Given the description of an element on the screen output the (x, y) to click on. 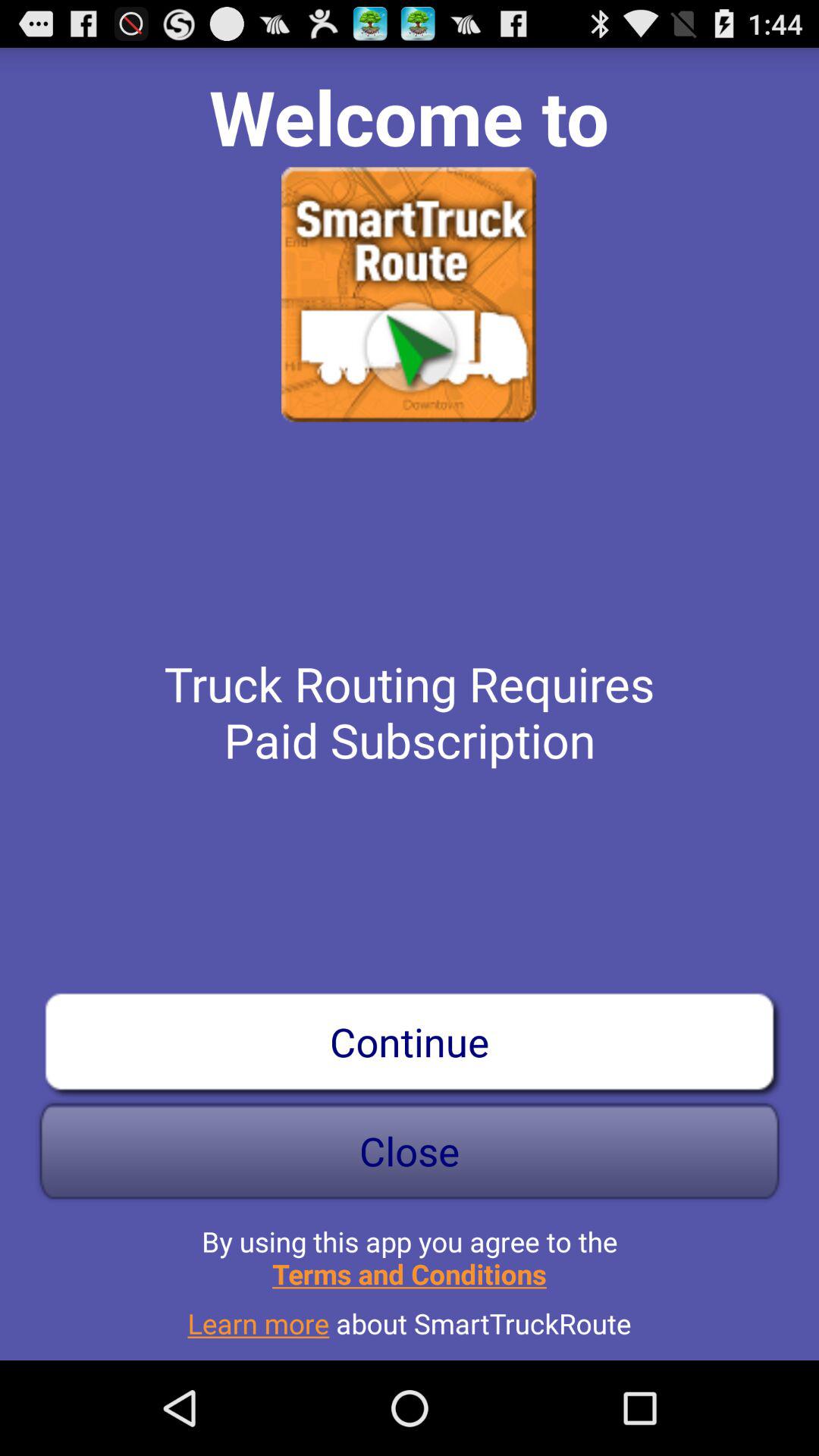
press the by using this item (409, 1251)
